Given the description of an element on the screen output the (x, y) to click on. 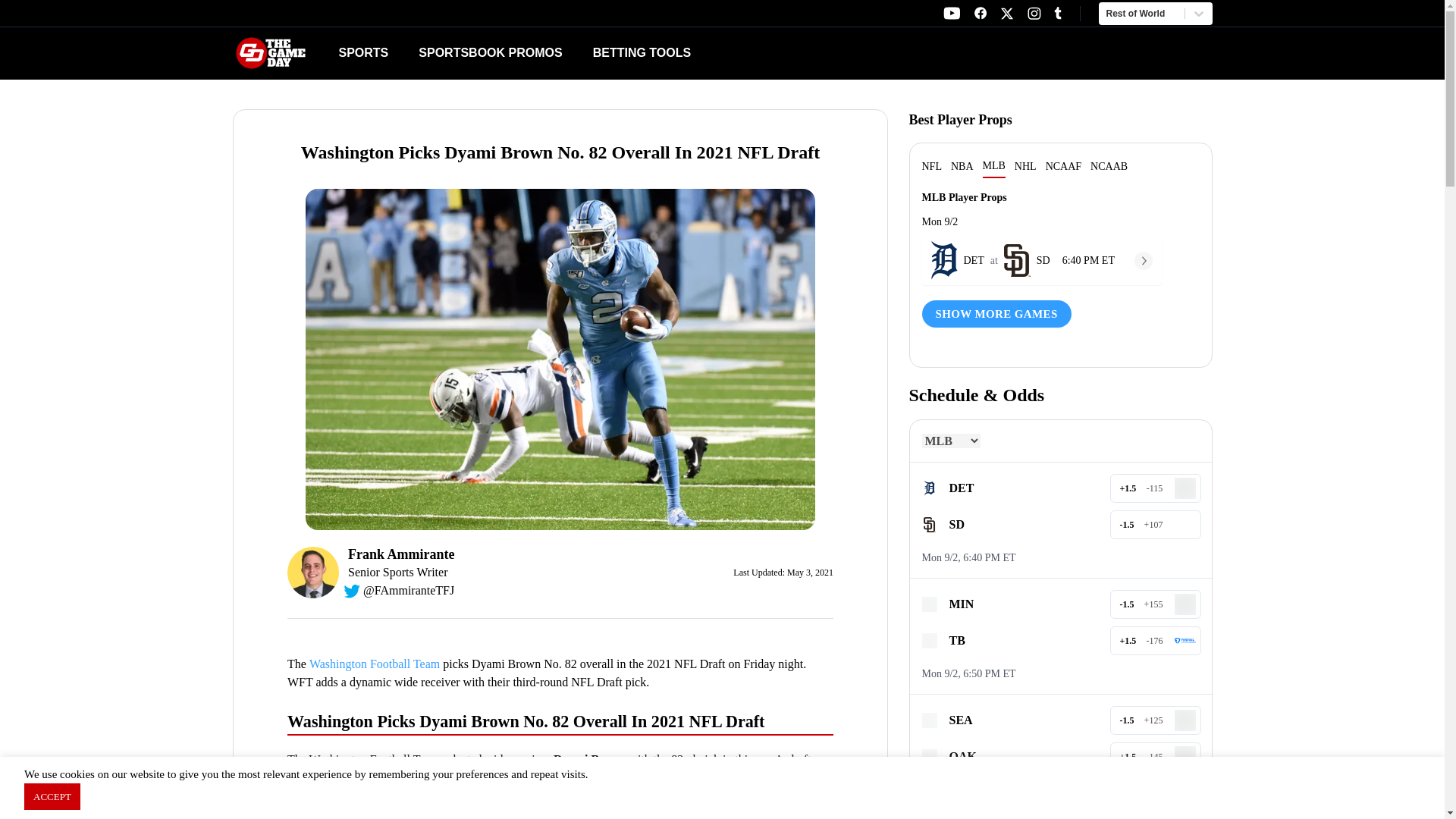
TGD Facebook Page (980, 12)
TGD Instagram Profile (1034, 12)
TGD X Profile (758, 53)
TGD Youtube Channel (1006, 13)
SPORTS (951, 12)
